Given the description of an element on the screen output the (x, y) to click on. 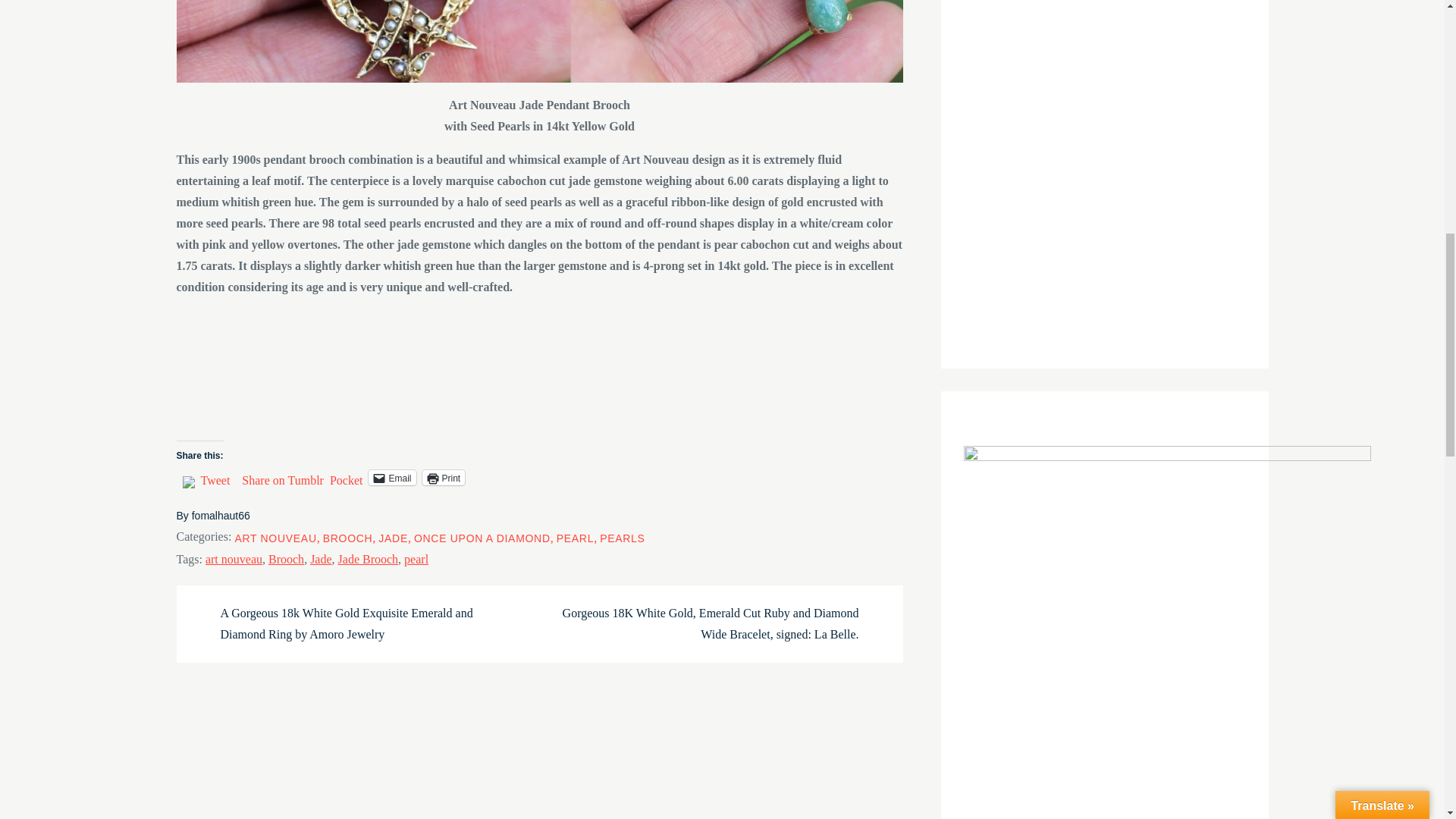
ART NOUVEAU (274, 538)
JADE (392, 538)
BROOCH (347, 538)
Pocket (346, 480)
Email (391, 477)
Tweet (215, 477)
Click to print (443, 477)
Click to email a link to a friend (391, 477)
pearl (416, 558)
Jade Brooch (367, 558)
Share on Tumblr (282, 477)
PEARLS (622, 538)
Print (443, 477)
fomalhaut66 (221, 515)
ONCE UPON A DIAMOND (481, 538)
